Given the description of an element on the screen output the (x, y) to click on. 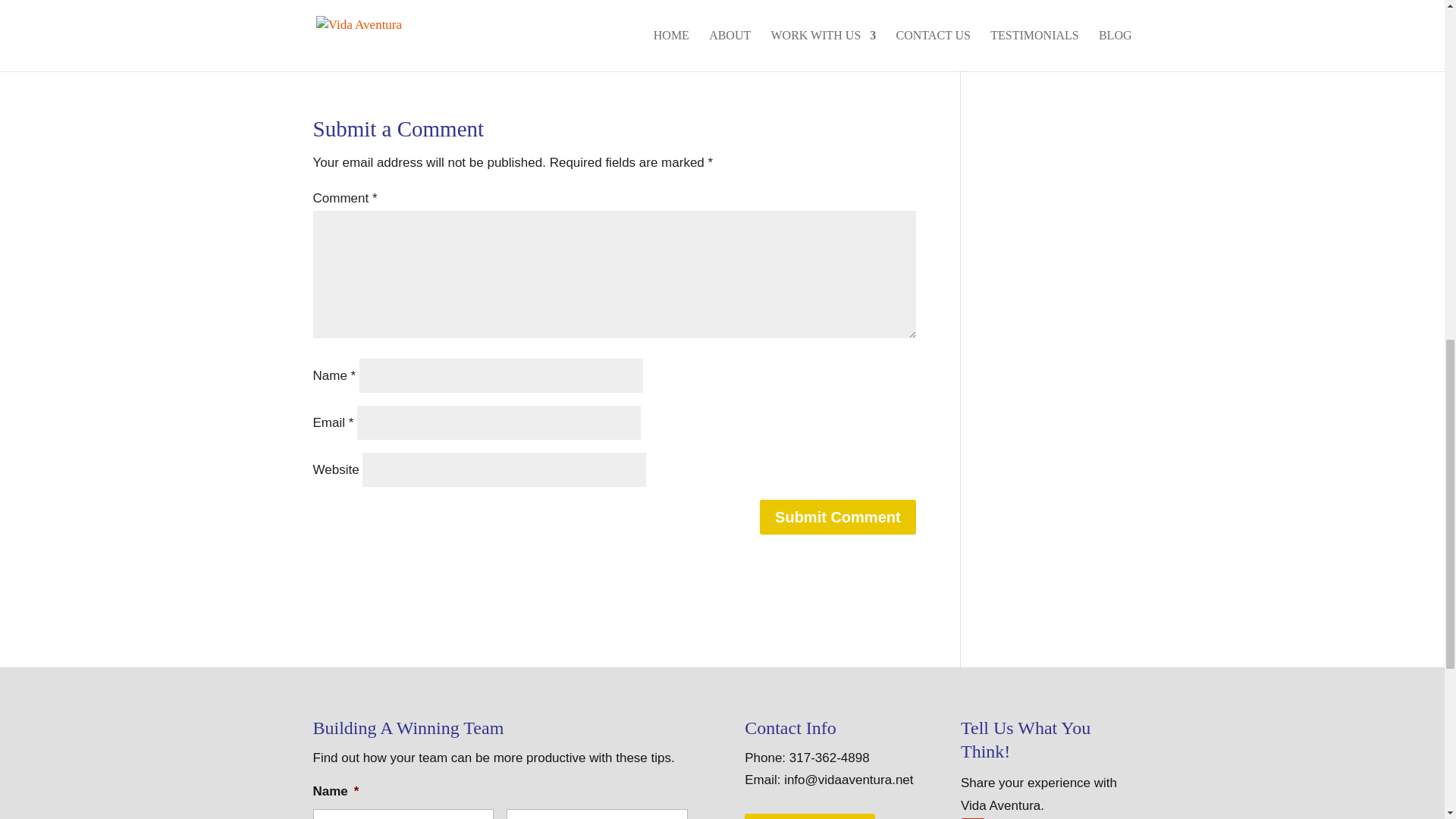
Submit Comment (837, 516)
Let's Connect (809, 816)
Submit Comment (837, 516)
